Given the description of an element on the screen output the (x, y) to click on. 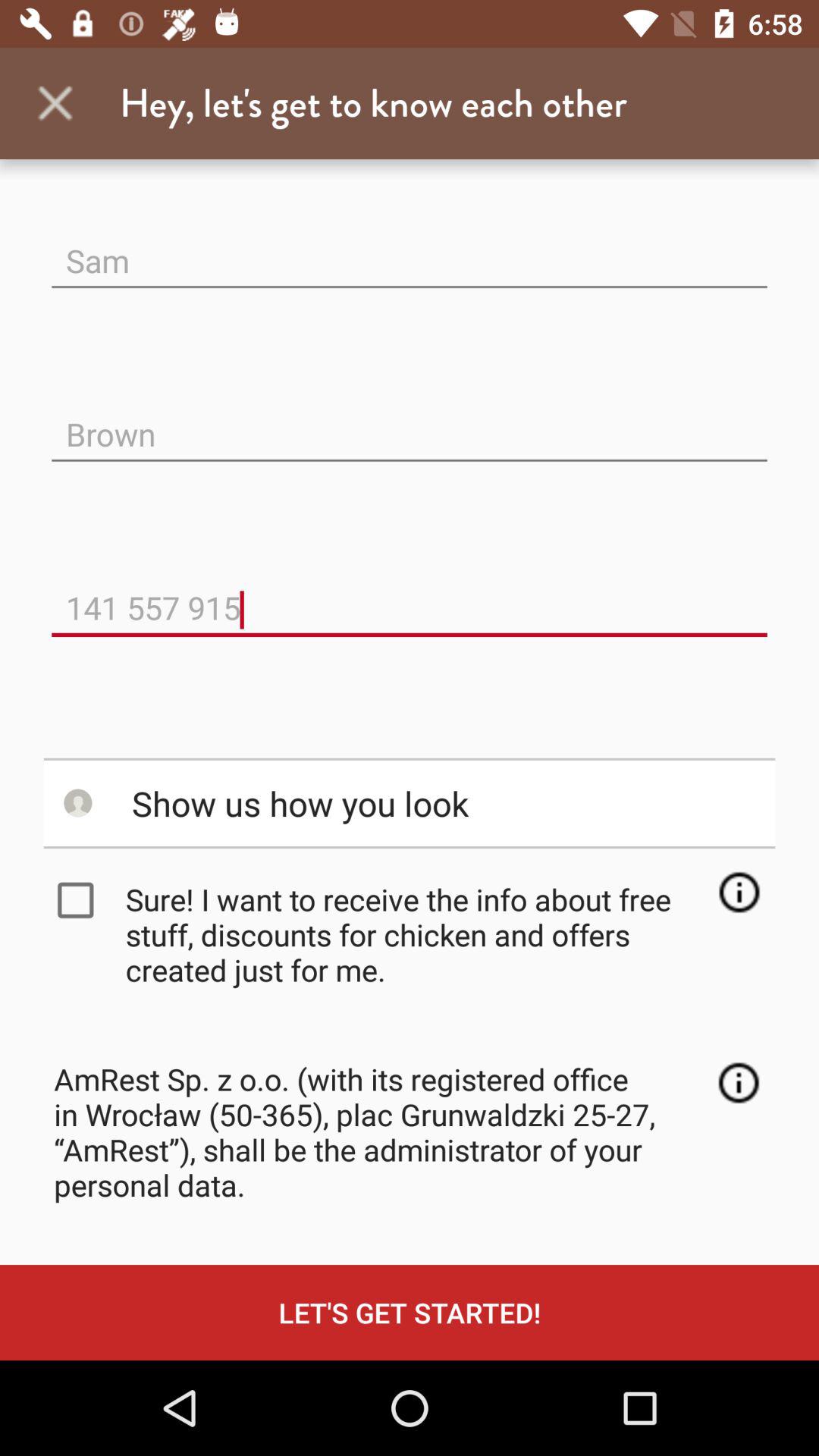
launch the item to the right of sure i want item (738, 892)
